Given the description of an element on the screen output the (x, y) to click on. 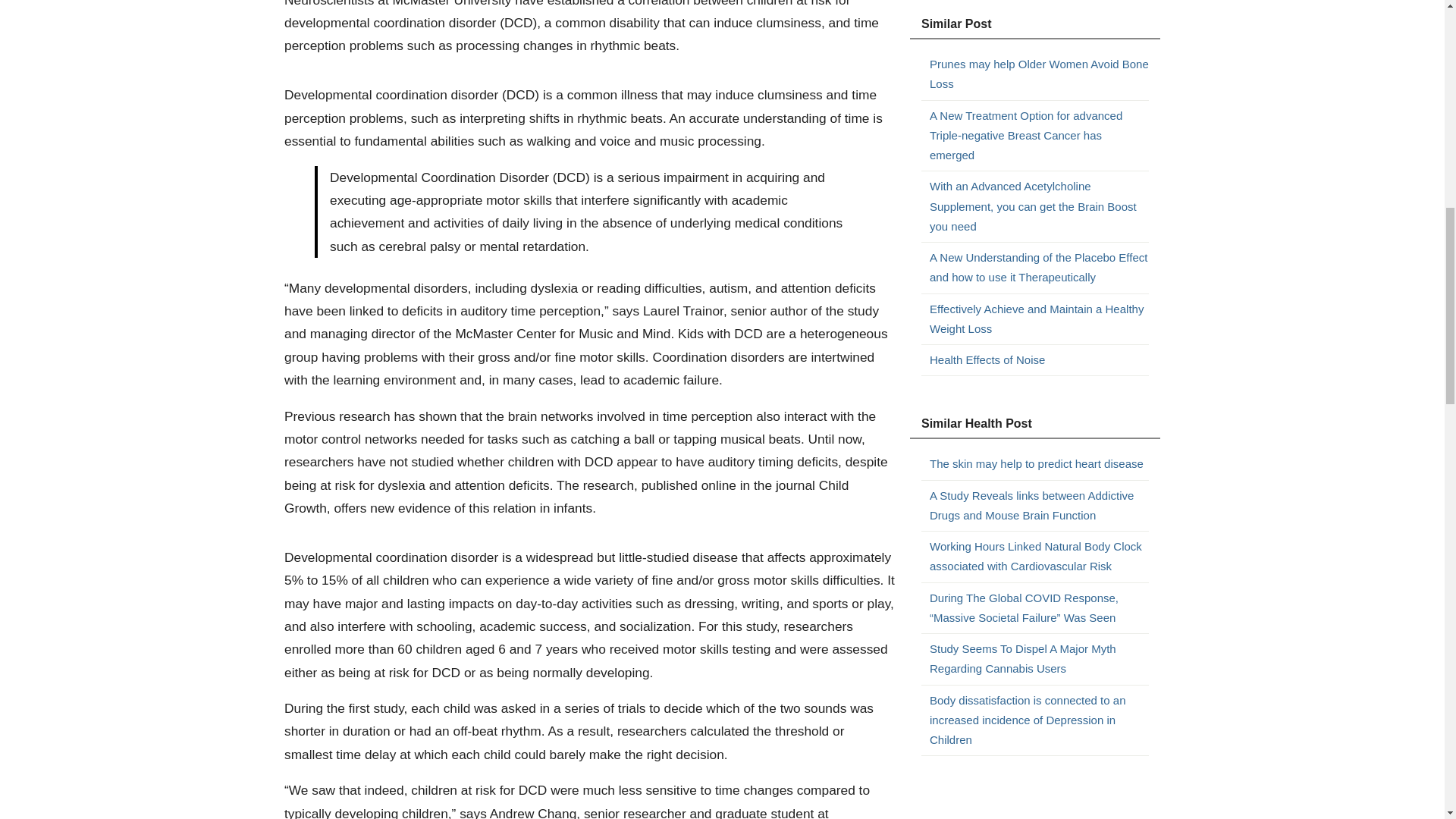
Study Seems To Dispel A Major Myth Regarding Cannabis Users (1039, 659)
Health Effects of Noise (1039, 360)
Effectively Achieve and Maintain a Healthy Weight Loss (1039, 318)
Prunes may help Older Women Avoid Bone Loss (1039, 74)
Health Effects of Noise (1039, 360)
Prunes may help Older Women Avoid Bone Loss (1039, 74)
Effectively Achieve and Maintain a Healthy Weight Loss (1039, 318)
The skin may help to predict heart disease (1039, 464)
